Given the description of an element on the screen output the (x, y) to click on. 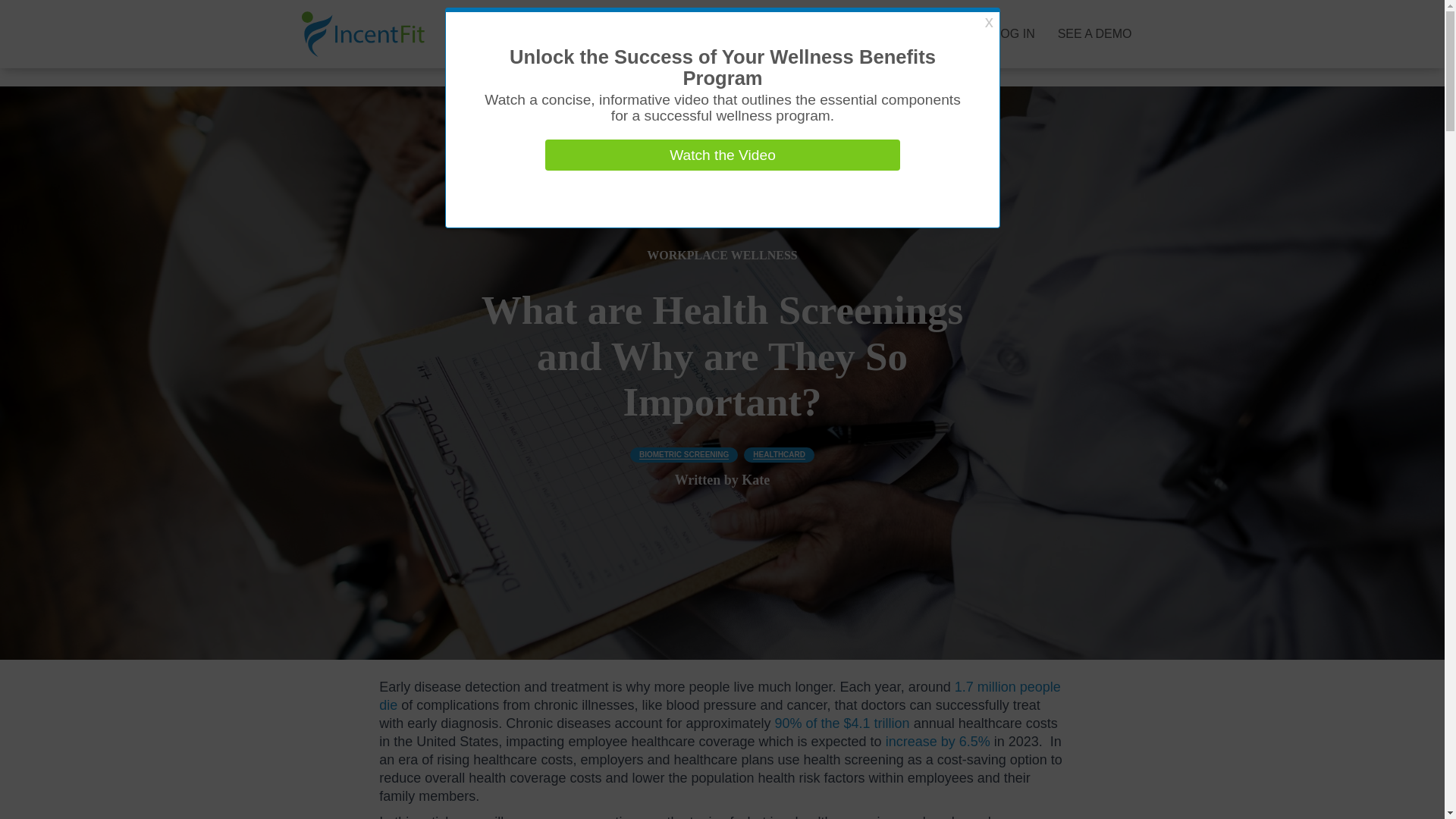
RESOURCES (789, 34)
Capabilities (604, 34)
Products (498, 34)
PRICING (698, 34)
CAPABILITIES (604, 34)
PRODUCTS (498, 34)
